Given the description of an element on the screen output the (x, y) to click on. 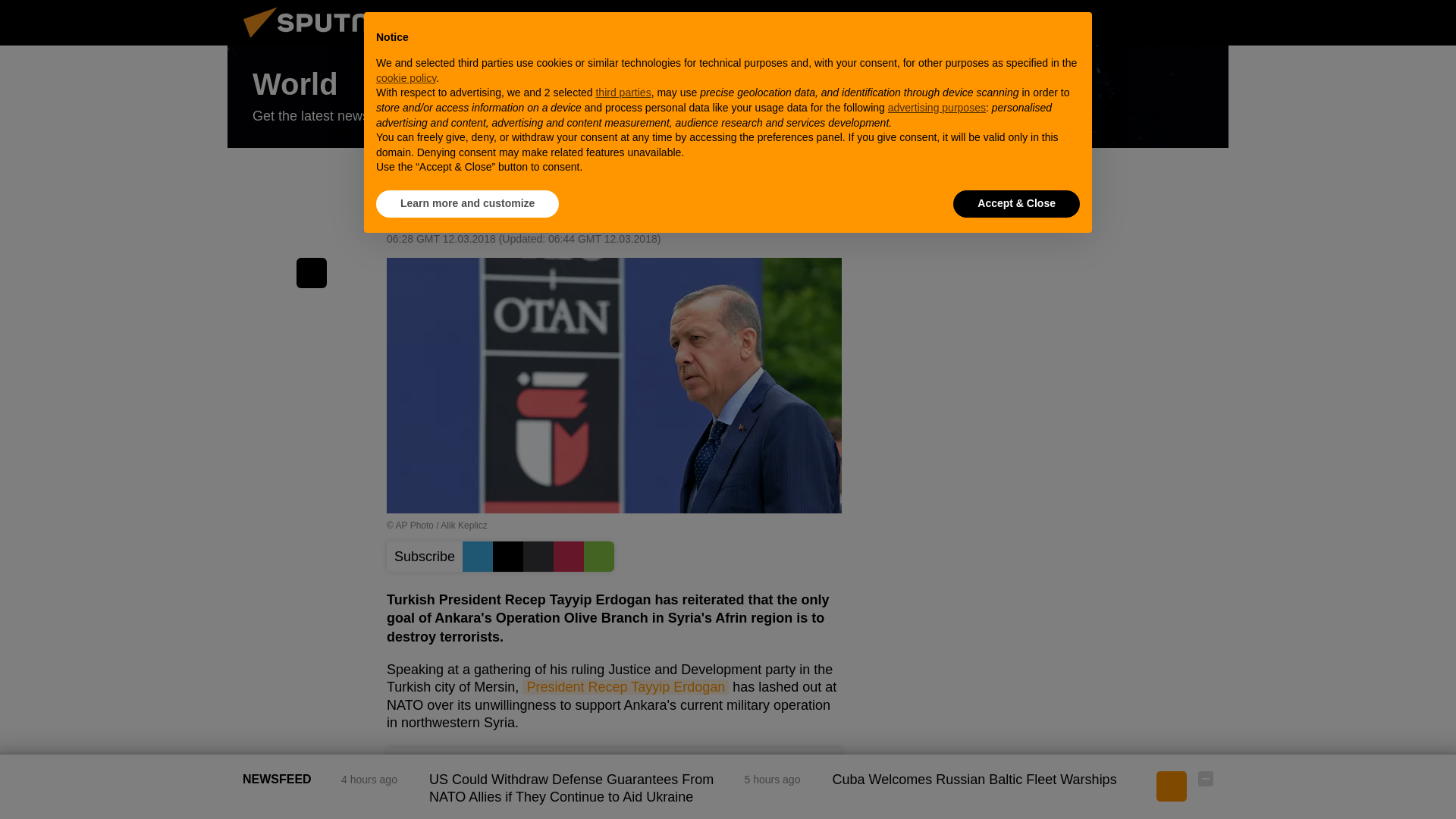
Chats (1206, 22)
Sputnik International (325, 41)
Authorization (1129, 22)
World (727, 96)
